Given the description of an element on the screen output the (x, y) to click on. 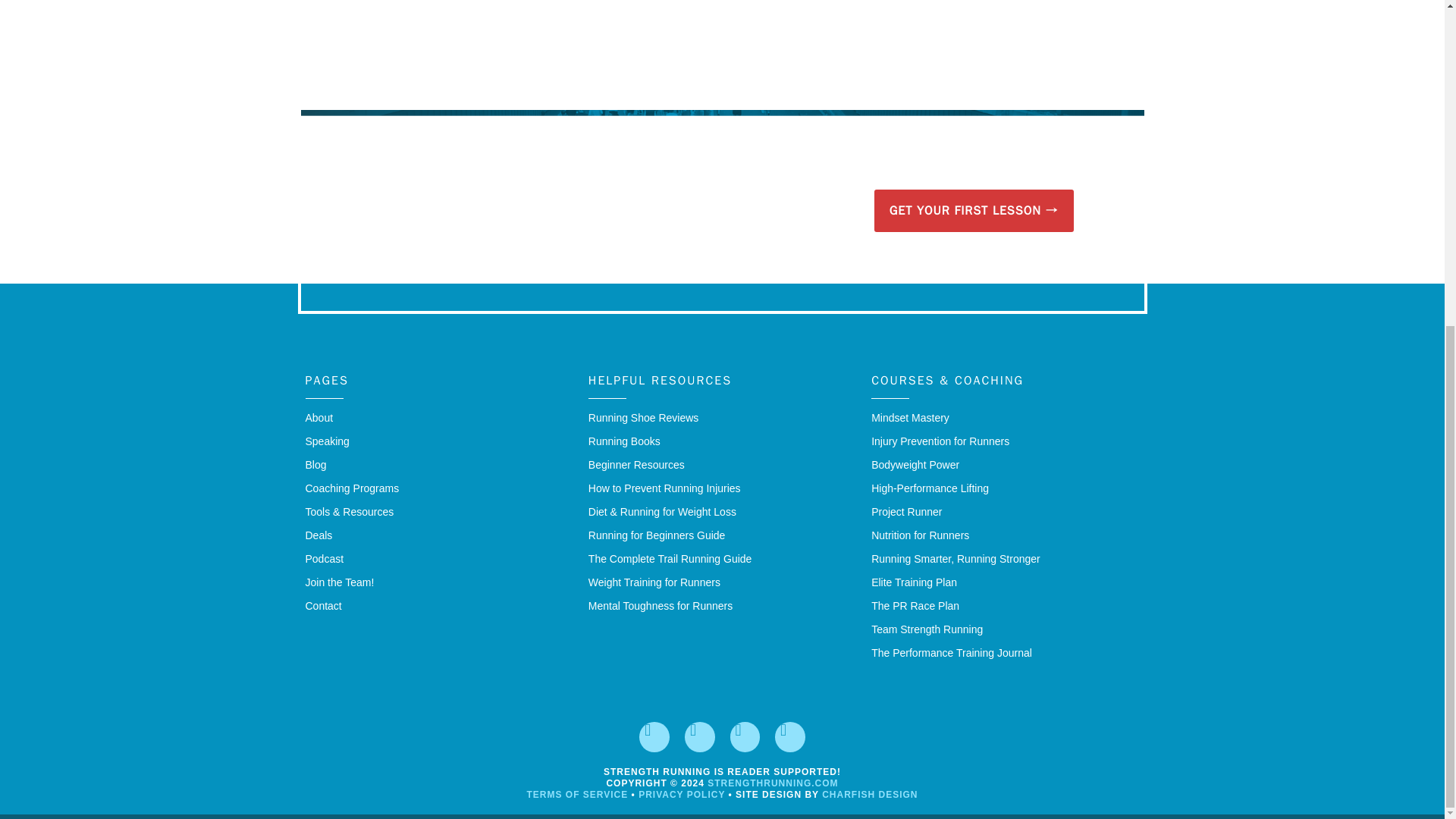
Running Shoe Reviews (722, 417)
Beginner Resources (722, 465)
Join the Team! (438, 582)
Deals (438, 535)
Speaking (438, 441)
Coaching Programs (438, 488)
How to Prevent Running Injuries (722, 488)
Blog (438, 465)
Podcast (438, 559)
Running Books (722, 441)
About (438, 417)
Contact (438, 606)
